Given the description of an element on the screen output the (x, y) to click on. 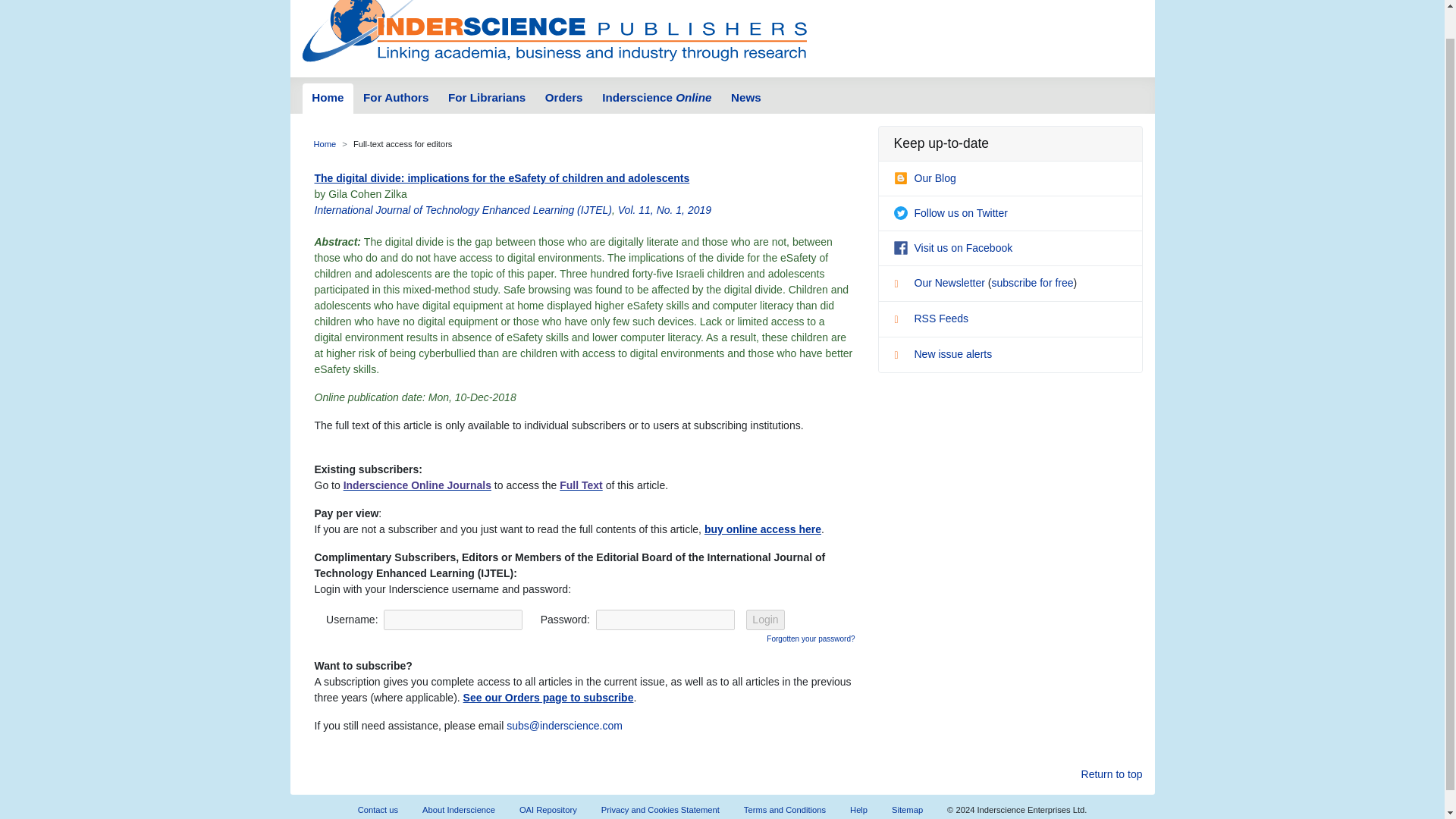
Inderscience Publishers - return to the homepage (553, 32)
RSS Feeds (930, 318)
Return to the top of the page (1111, 774)
Our Newsletter (940, 282)
Full Text (580, 485)
buy online access here (762, 529)
Follow us on Twitter (950, 213)
subscribe for free (1032, 282)
Inderscience Online Journals (417, 485)
flag (901, 356)
Vol. 11, No. 1, 2019 (664, 209)
Forgotten your password? (810, 637)
For Librarians (486, 98)
Home (325, 143)
